Given the description of an element on the screen output the (x, y) to click on. 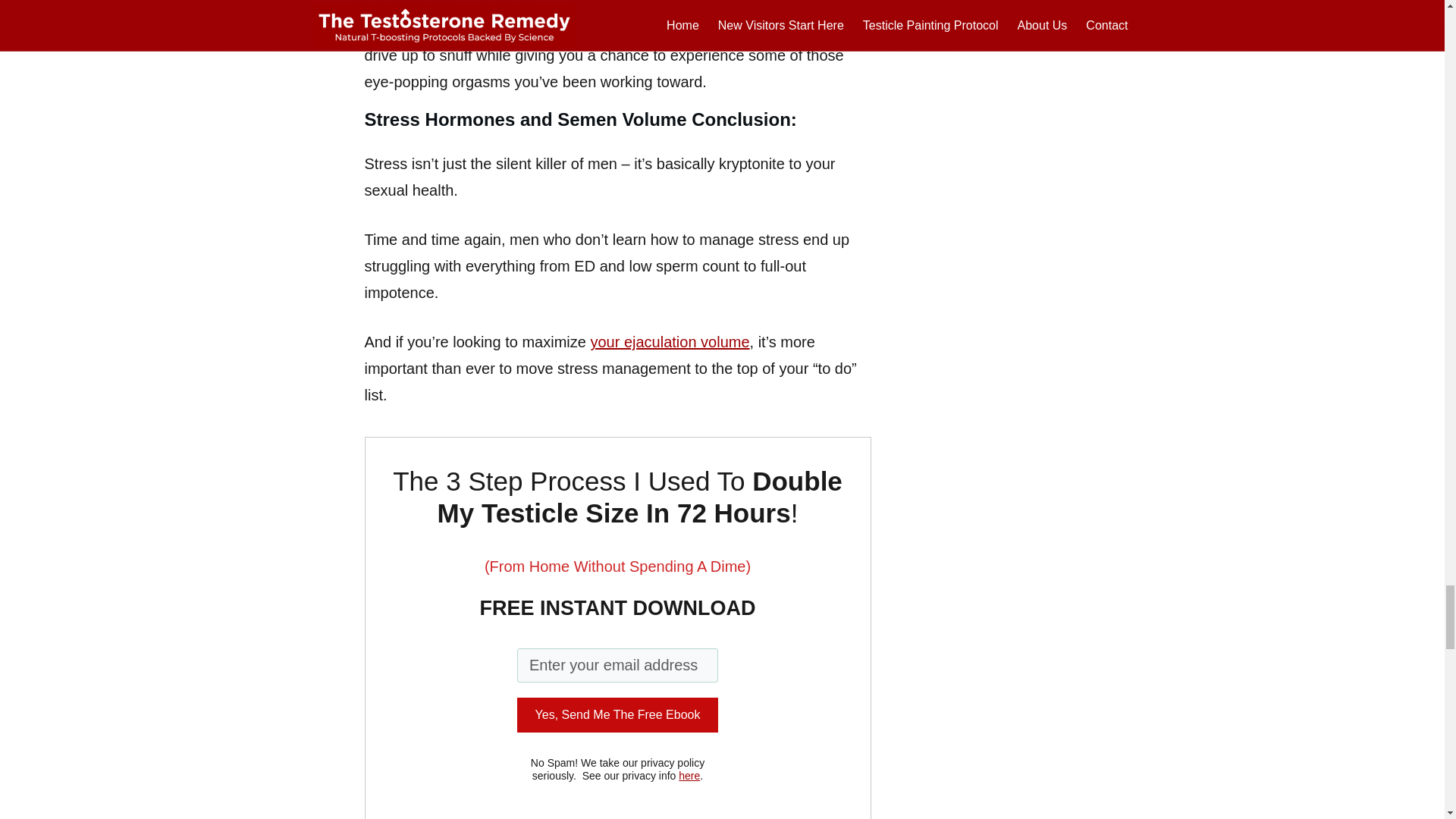
Yes, Send Me The Free Ebook (616, 714)
your ejaculation volume (669, 341)
here (689, 775)
